Given the description of an element on the screen output the (x, y) to click on. 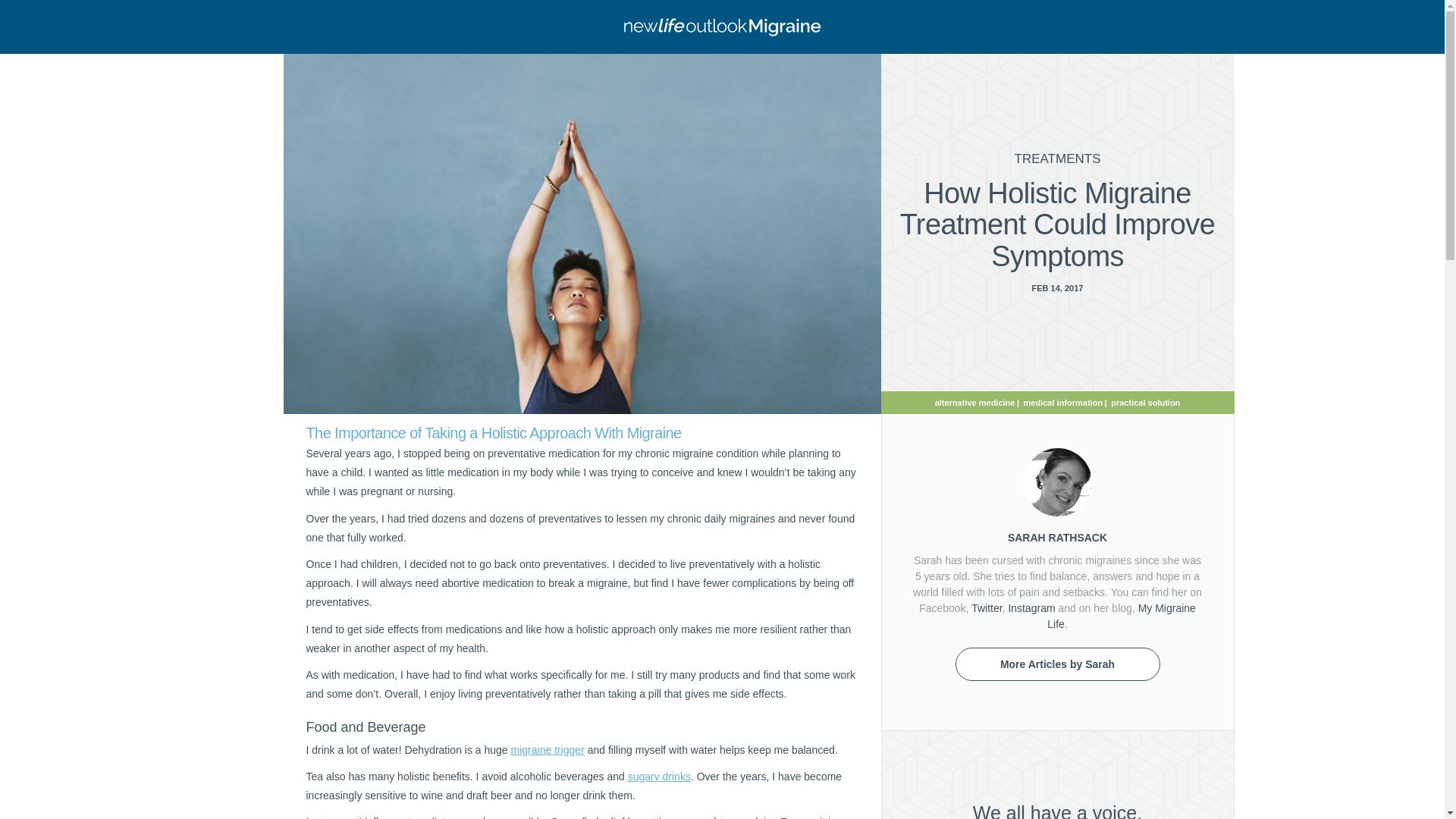
My Migraine Life (1120, 615)
Twitter (986, 607)
practical solution (1144, 401)
SARAH RATHSACK (1056, 536)
Instagram (1030, 607)
More Articles by Sarah (1057, 663)
alternative medicine (974, 401)
sugary drinks (658, 776)
medical information (1063, 401)
migraine trigger (548, 749)
